Given the description of an element on the screen output the (x, y) to click on. 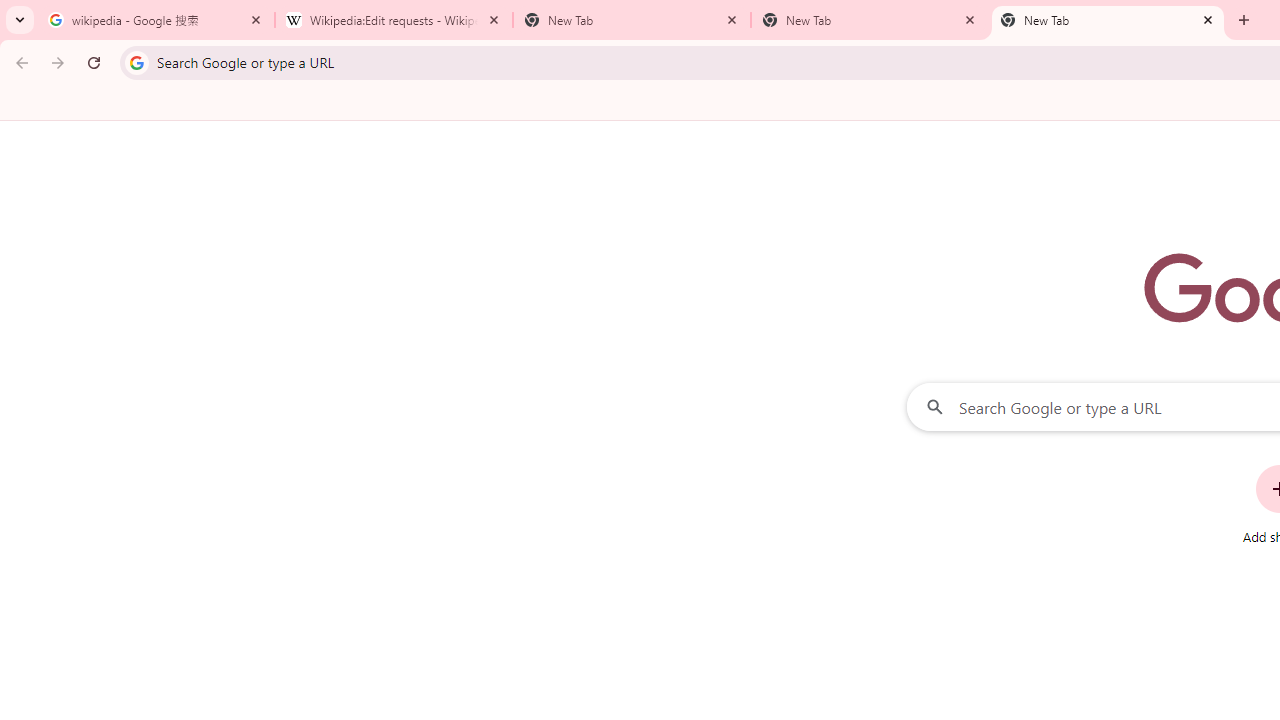
New Tab (1108, 20)
New Tab (632, 20)
New Tab (870, 20)
Wikipedia:Edit requests - Wikipedia (394, 20)
